Given the description of an element on the screen output the (x, y) to click on. 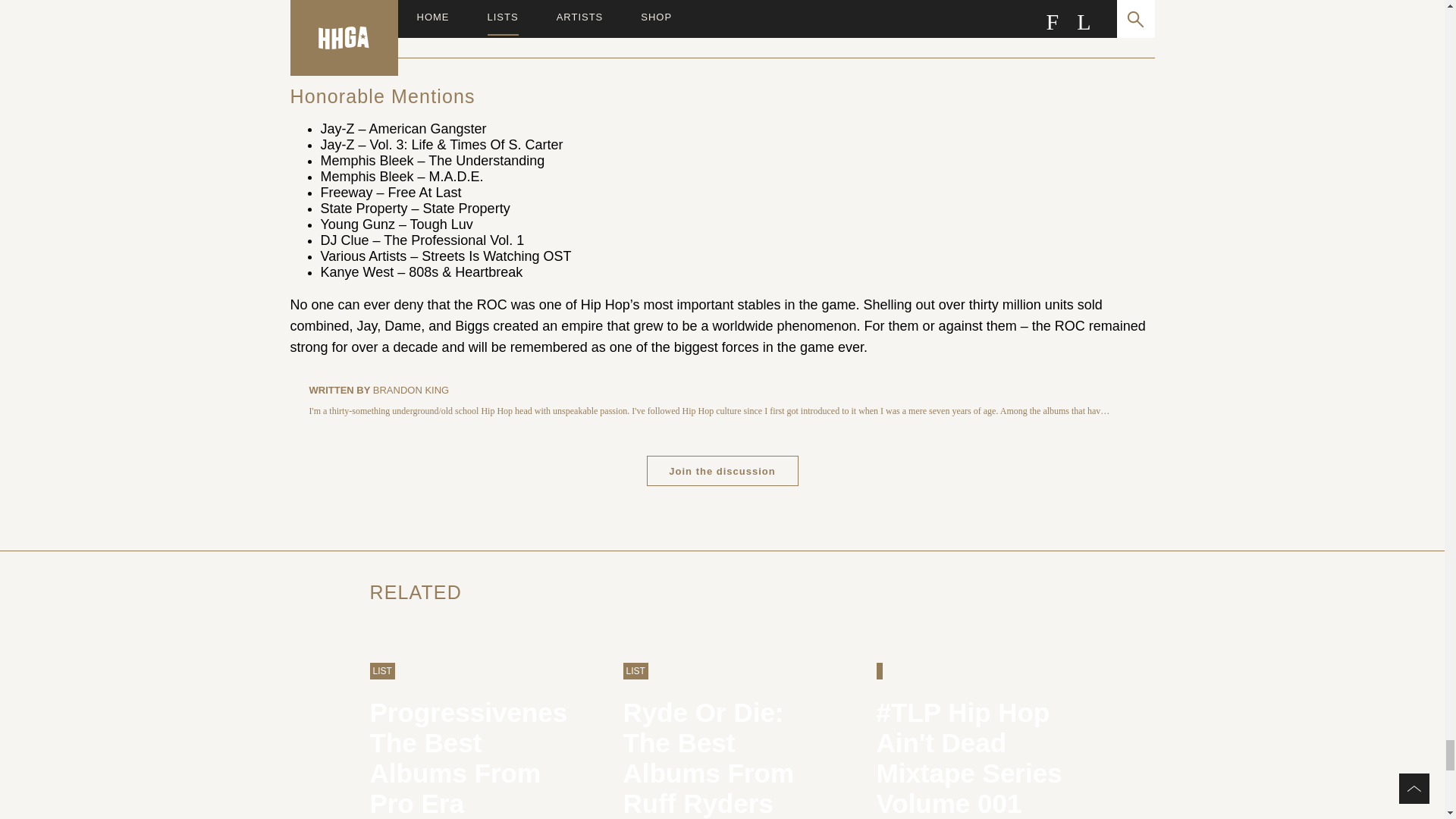
Join the discussion (721, 470)
Posts by Brandon King (468, 730)
Join the discussion (410, 389)
BRANDON KING (721, 470)
